Given the description of an element on the screen output the (x, y) to click on. 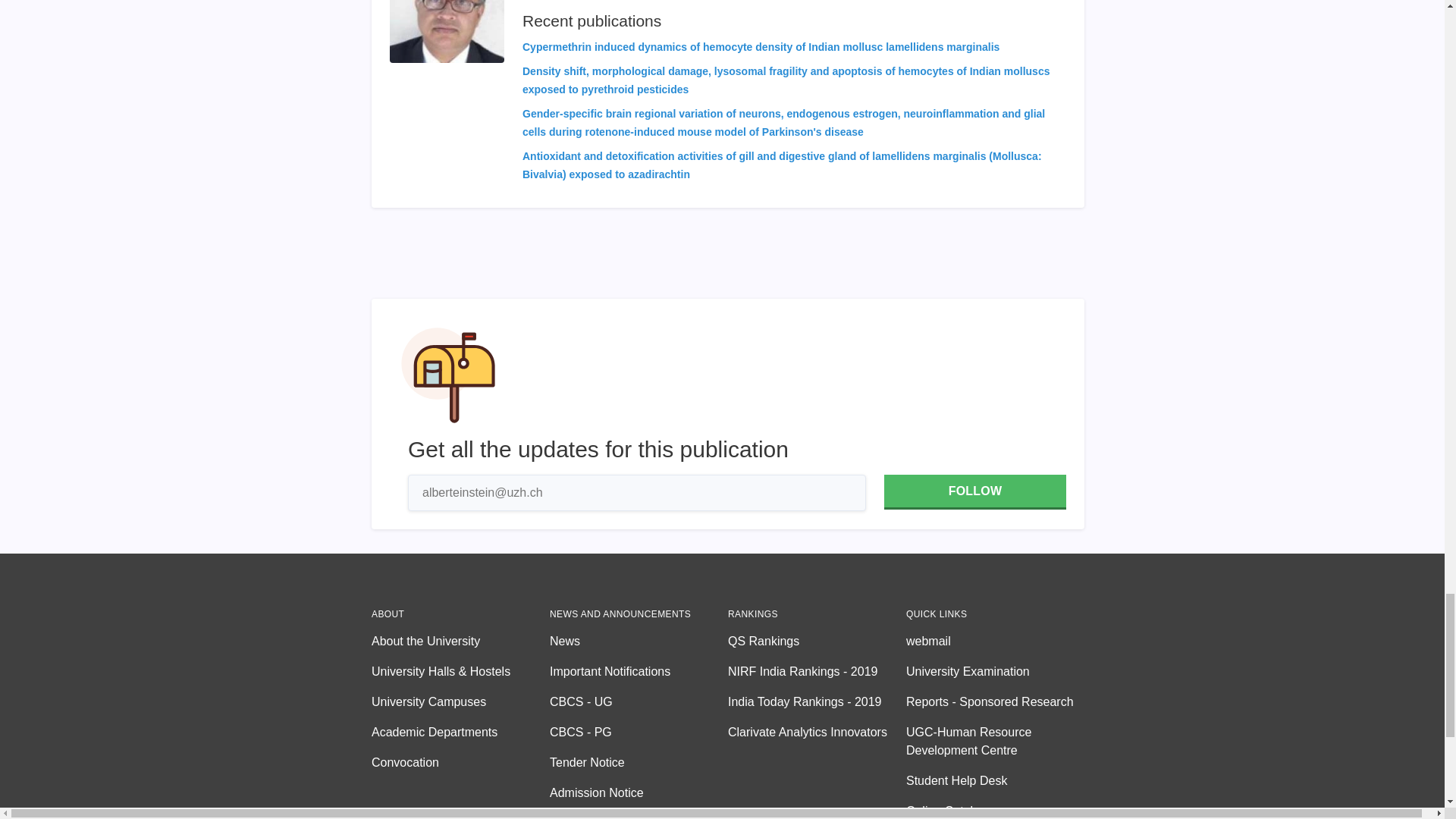
FOLLOW (974, 492)
Subscribe form hero illustration (448, 375)
